Given the description of an element on the screen output the (x, y) to click on. 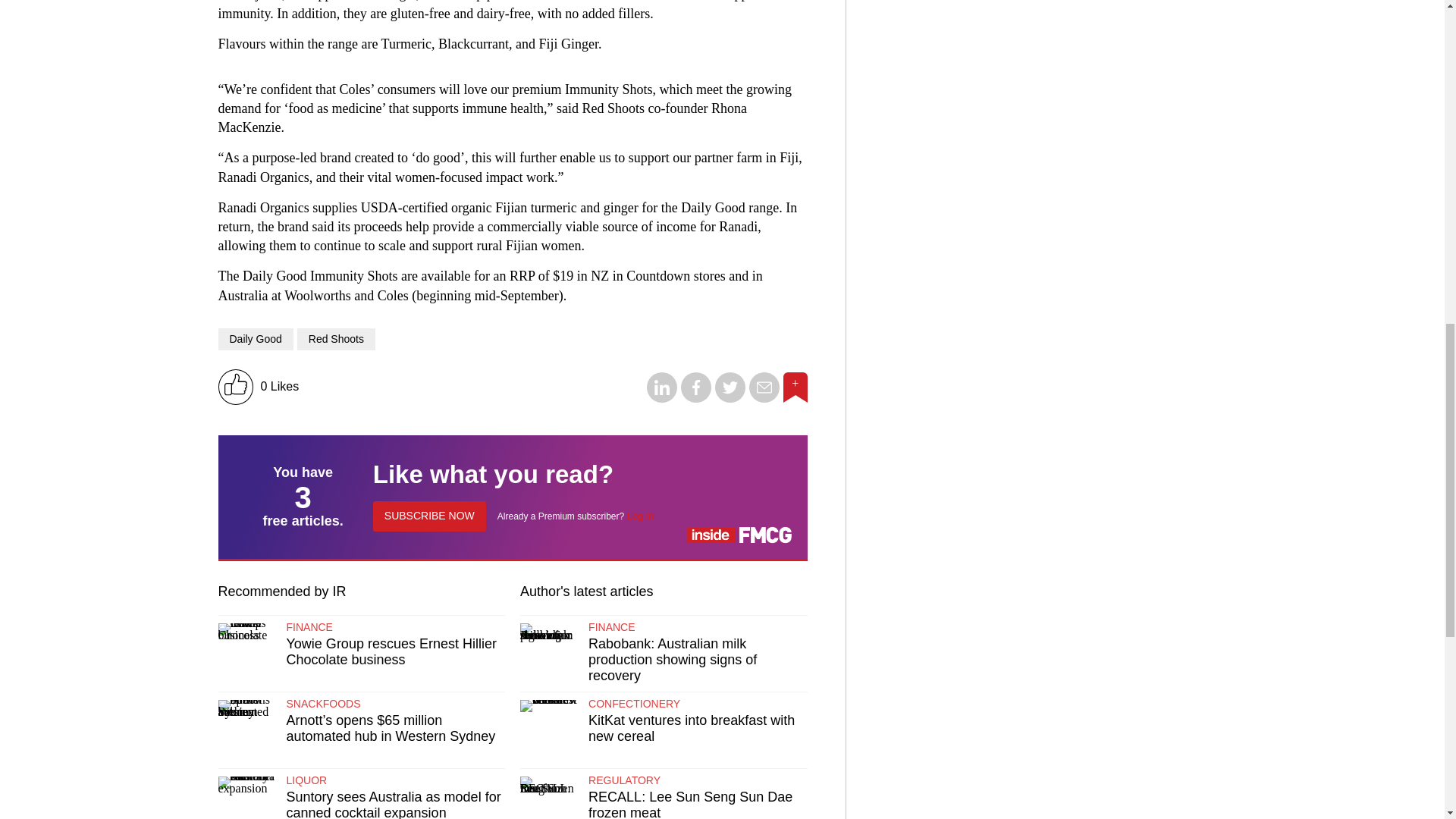
Share on LinkedIn (661, 398)
Share on Facebook (695, 398)
Share on Email (764, 398)
Share on Twitter (730, 398)
